Given the description of an element on the screen output the (x, y) to click on. 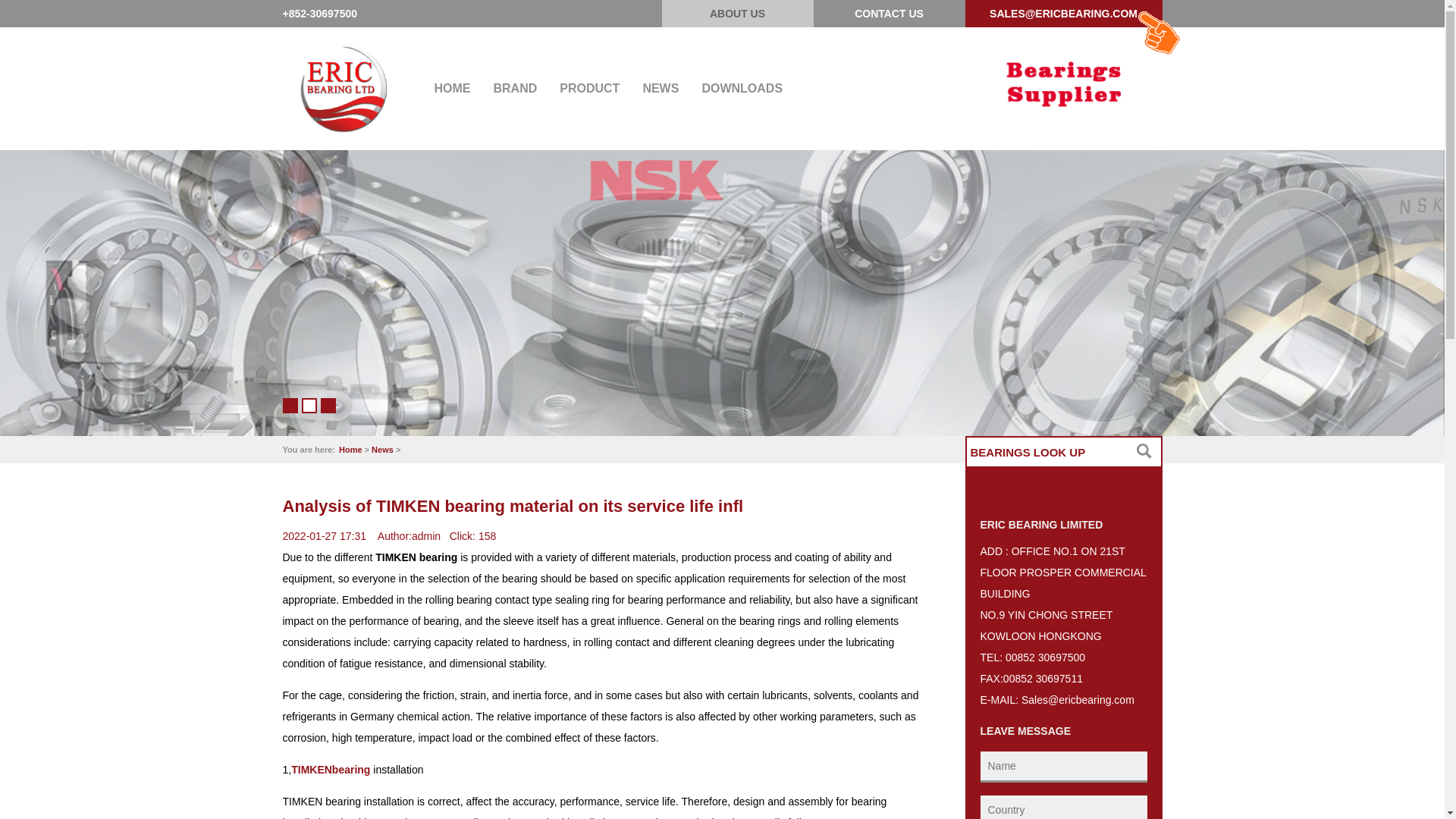
PRODUCT Element type: text (589, 88)
ABOUT US Element type: text (737, 13)
NEWS Element type: text (660, 88)
3 Element type: text (327, 405)
News Element type: text (382, 449)
Home Element type: text (350, 449)
HOME Element type: text (451, 88)
CONTACT US Element type: text (888, 13)
2 Element type: text (308, 405)
BRAND Element type: text (514, 88)
bearing Element type: text (352, 769)
DOWNLOADS Element type: text (741, 88)
1 Element type: text (289, 405)
SALES@ERICBEARING.COM Element type: text (1062, 13)
TIMKEN Element type: text (311, 769)
